Given the description of an element on the screen output the (x, y) to click on. 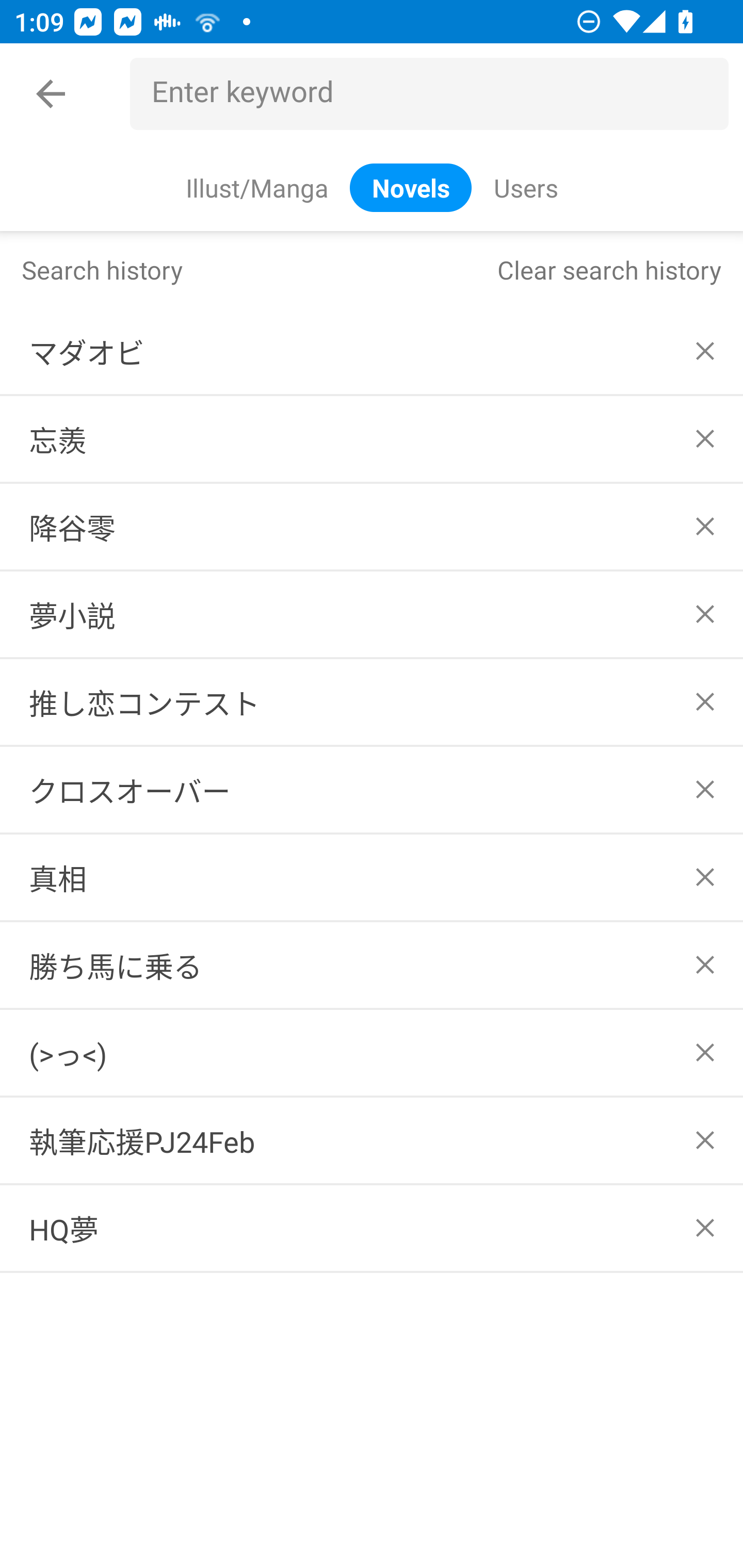
Navigate up (50, 93)
Enter keyword (436, 94)
Illust/Manga (256, 187)
Novels (410, 187)
Users (525, 187)
Clear search history (609, 269)
マダオビ (371, 350)
忘羨 (371, 438)
降谷零 (371, 526)
夢小説 (371, 613)
推し恋コンテスト (371, 701)
クロスオーバー (371, 789)
真相 (371, 877)
勝ち馬に乗る (371, 964)
(>っ<) (371, 1052)
執筆応援PJ24Feb (371, 1140)
HQ夢 (371, 1228)
